Given the description of an element on the screen output the (x, y) to click on. 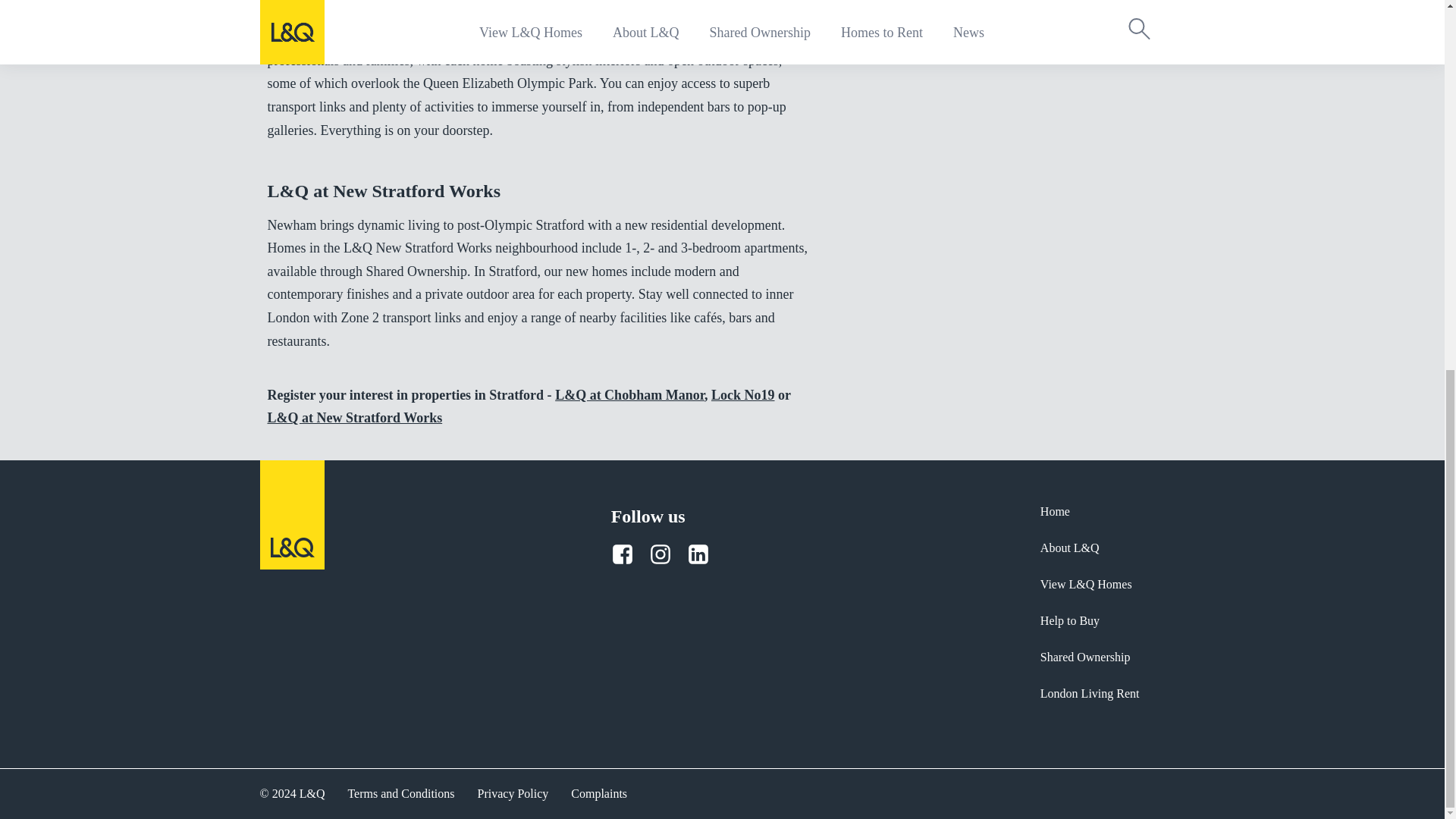
Help to Buy (1090, 624)
Terms and Conditions (400, 793)
Home (1090, 519)
Lock No19 (742, 394)
London Living Rent (1090, 689)
Shared Ownership (1090, 660)
